Given the description of an element on the screen output the (x, y) to click on. 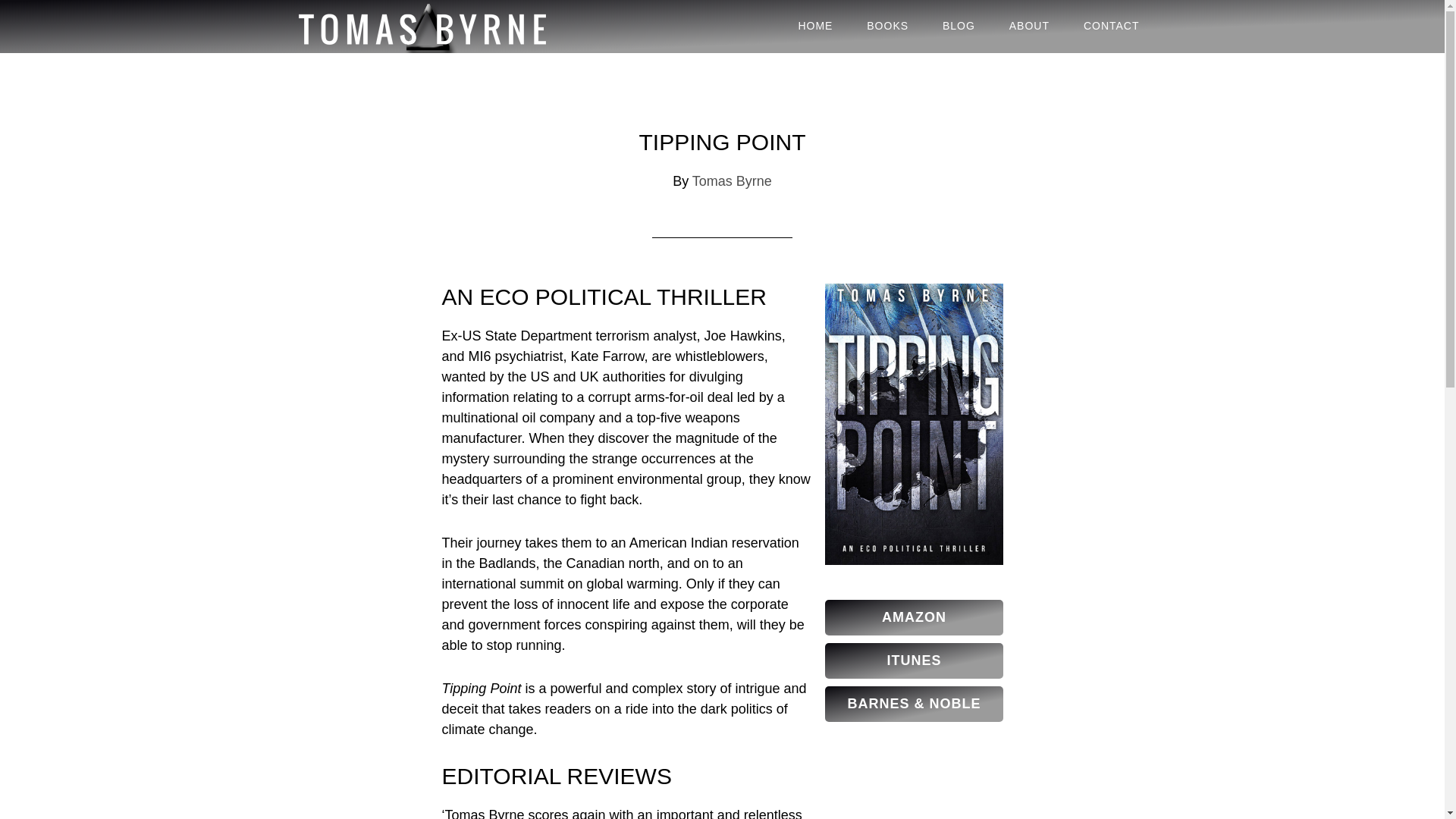
ABOUT (1029, 25)
AMAZON (914, 617)
Tomas Byrne (732, 181)
HOME (815, 25)
BOOKS (887, 25)
ITUNES (914, 660)
TOMAS BYRNE (425, 26)
CONTACT (1111, 25)
BLOG (958, 25)
